Given the description of an element on the screen output the (x, y) to click on. 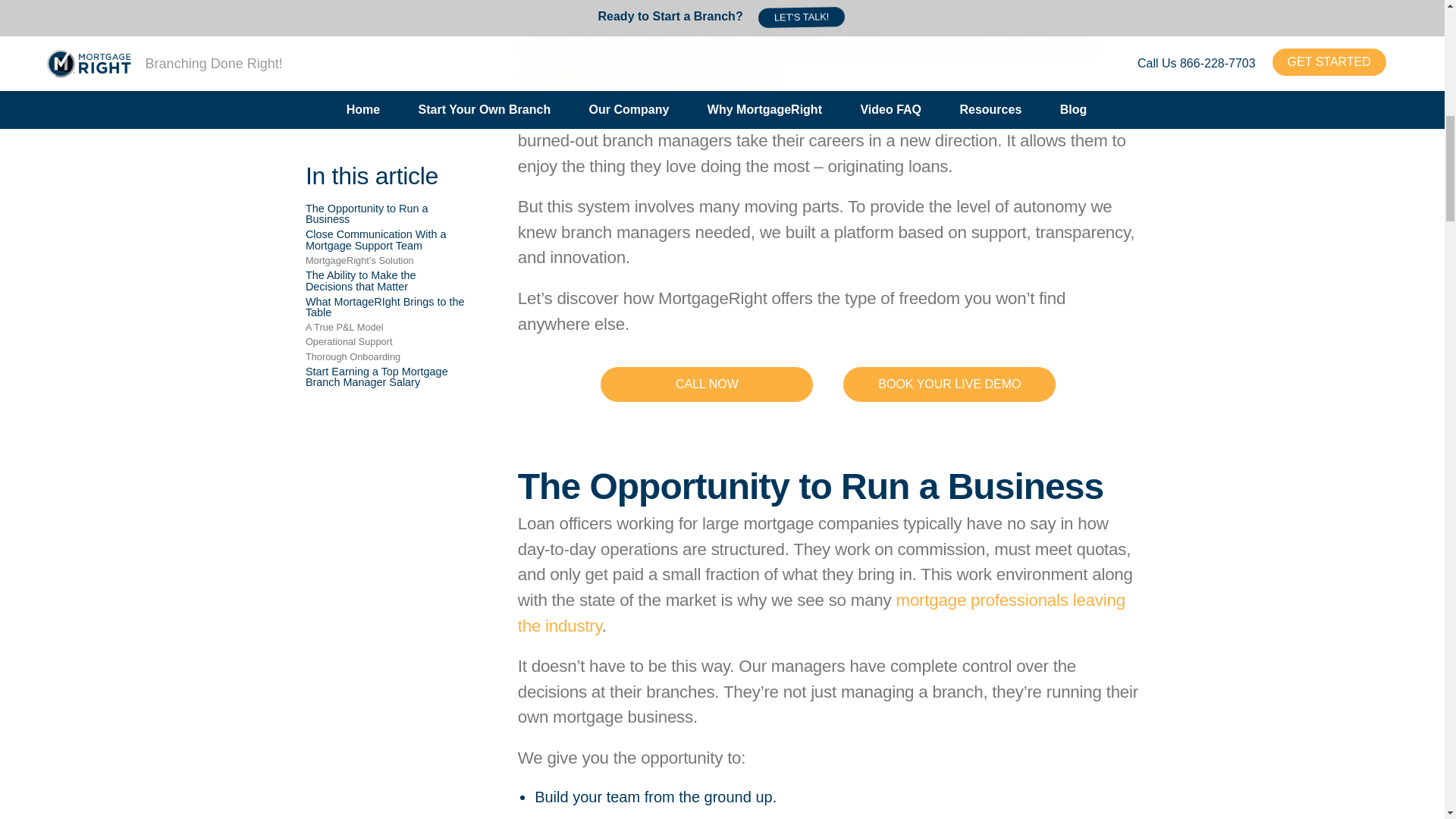
mortgage branch manager salary (649, 74)
Thorough Onboarding  (354, 183)
BOOK YOUR LIVE DEMO (949, 384)
Close Communication With a Mortgage Support Team (375, 65)
The Ability to Make the Decisions that Matter  (360, 106)
Operational Support  (349, 167)
Start Earning a Top Mortgage Branch Manager Salary  (376, 202)
What MortageRIght Brings to the Table (384, 133)
CALL NOW (705, 384)
mortgage professionals leaving the industry (821, 612)
